Given the description of an element on the screen output the (x, y) to click on. 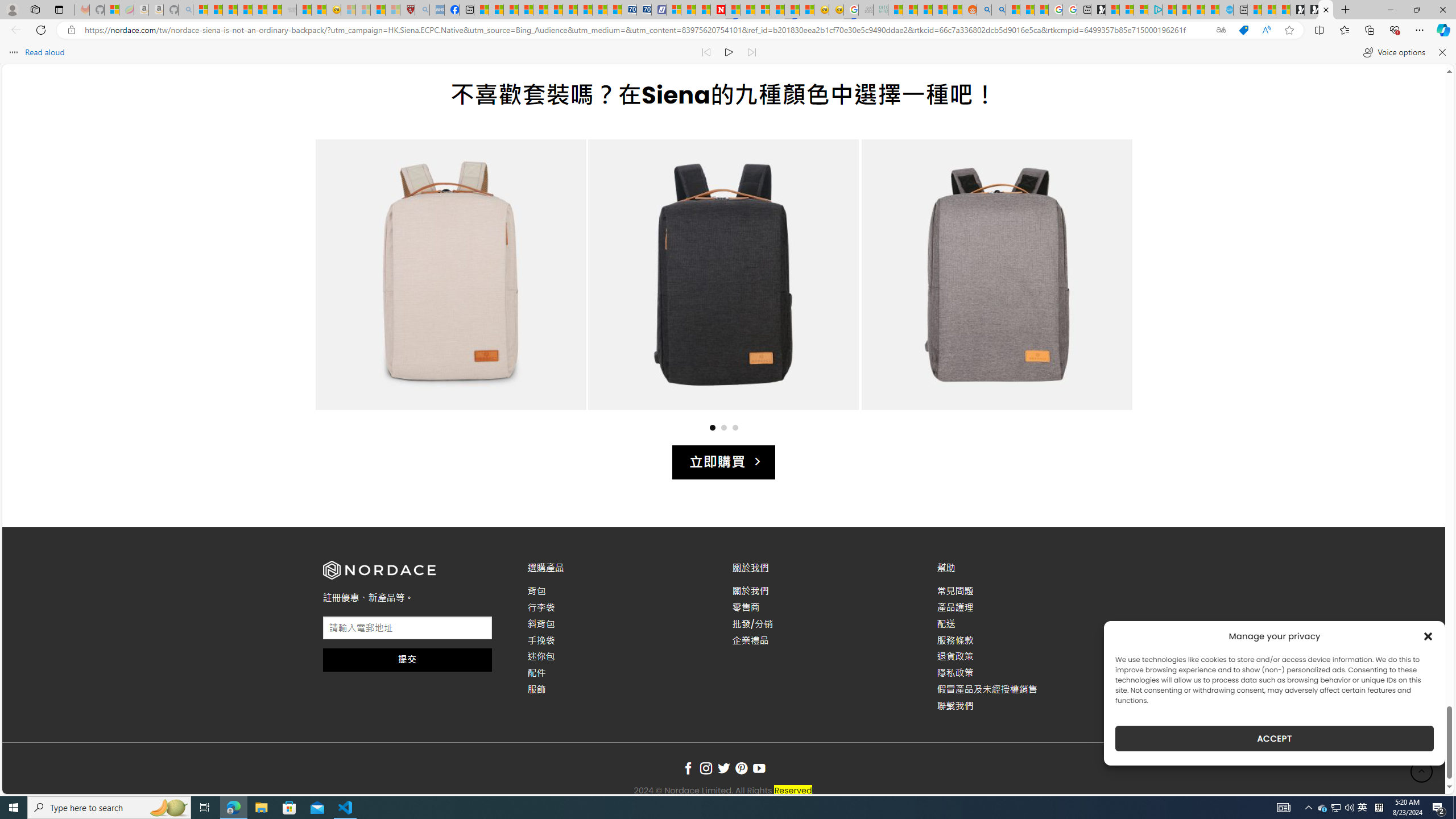
World - MSN (510, 9)
Utah sues federal government - Search (998, 9)
Previous (344, 285)
Close read aloud (1441, 52)
